Given the description of an element on the screen output the (x, y) to click on. 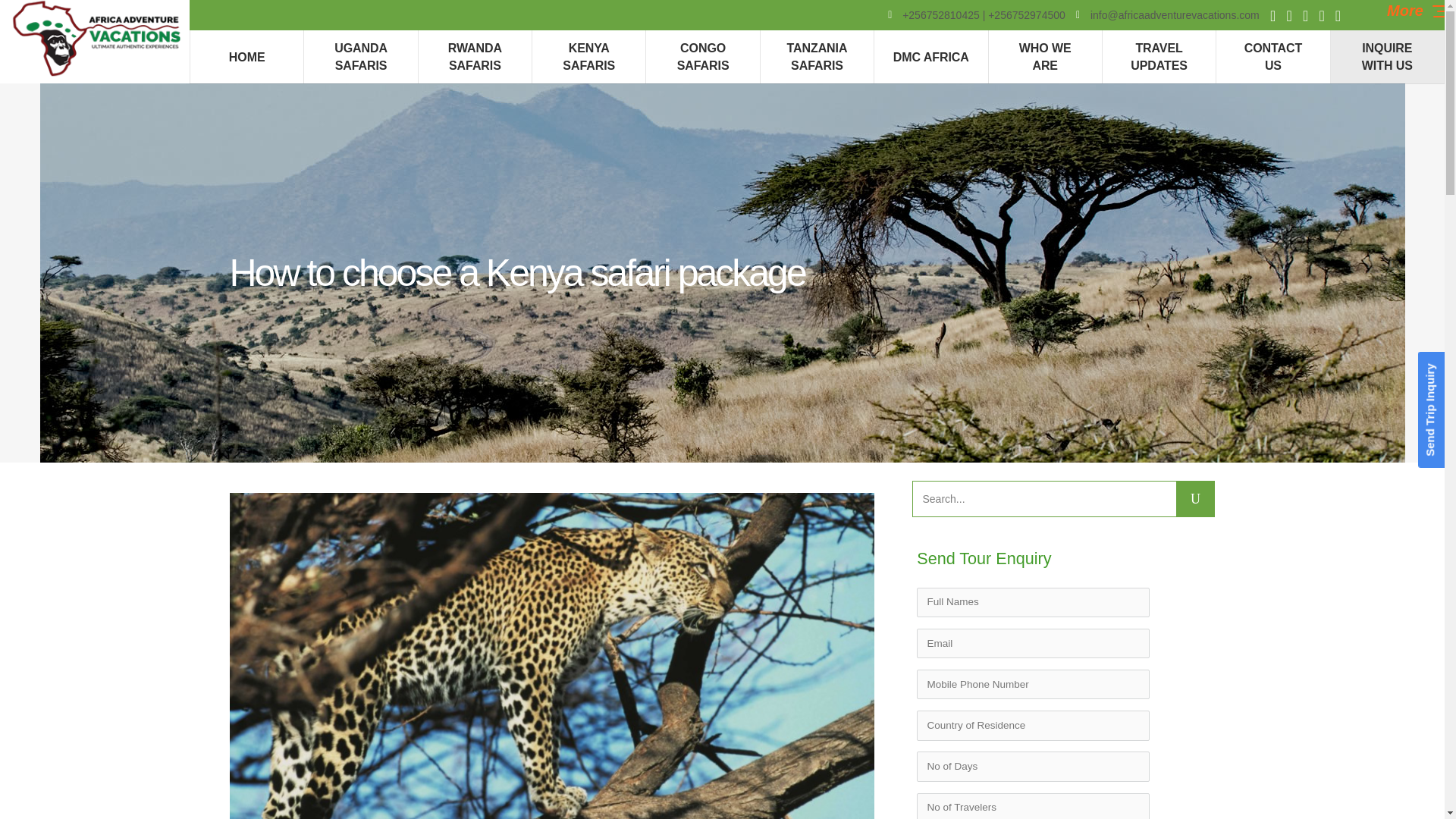
Search for: (1044, 498)
HOME (246, 56)
